Given the description of an element on the screen output the (x, y) to click on. 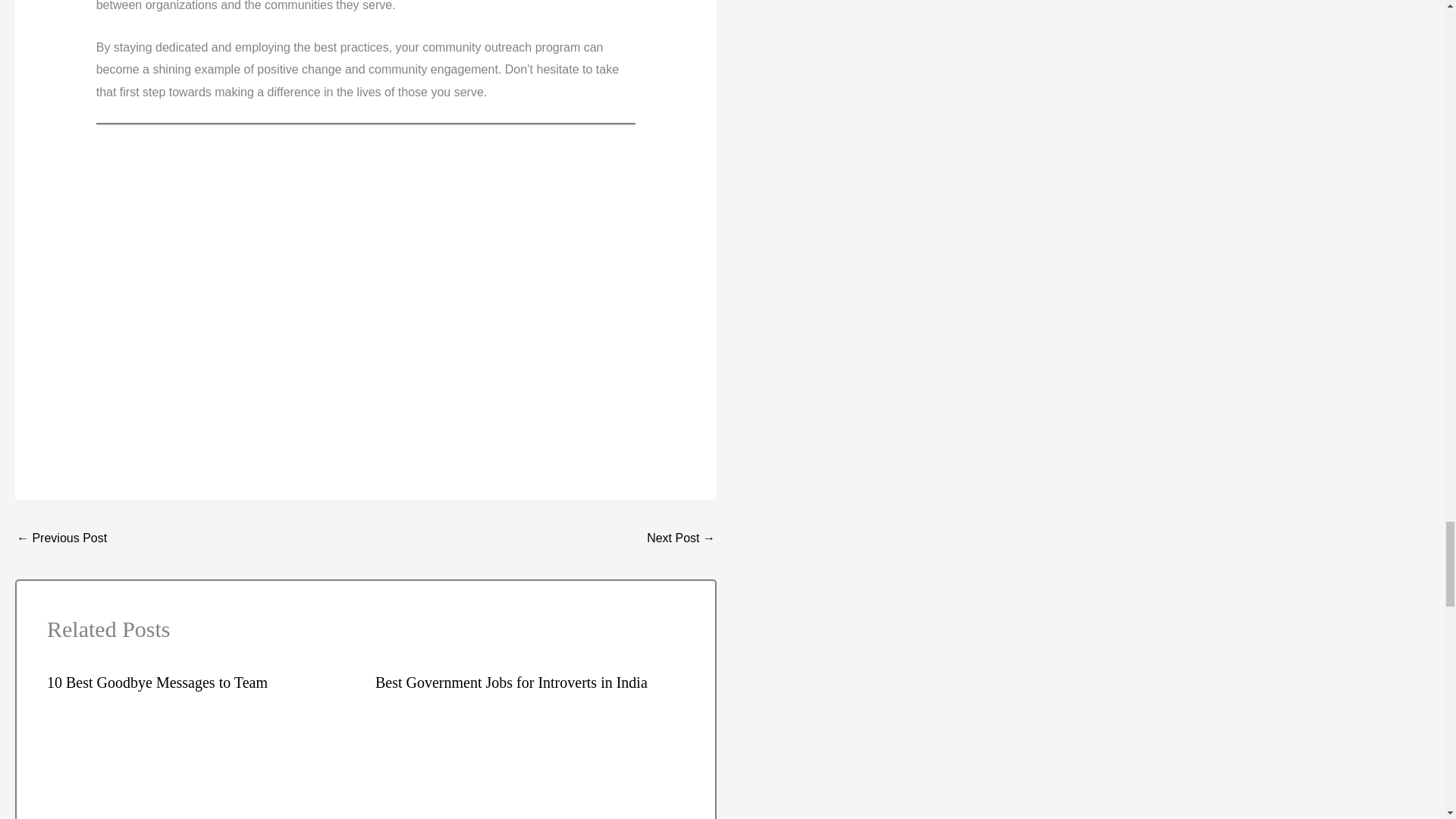
10 Best Goodbye Messages to Team (156, 682)
How to Kickstart Your Career in Social Entrepreneurship (680, 539)
Best Government Jobs for Introverts in India (511, 682)
